Given the description of an element on the screen output the (x, y) to click on. 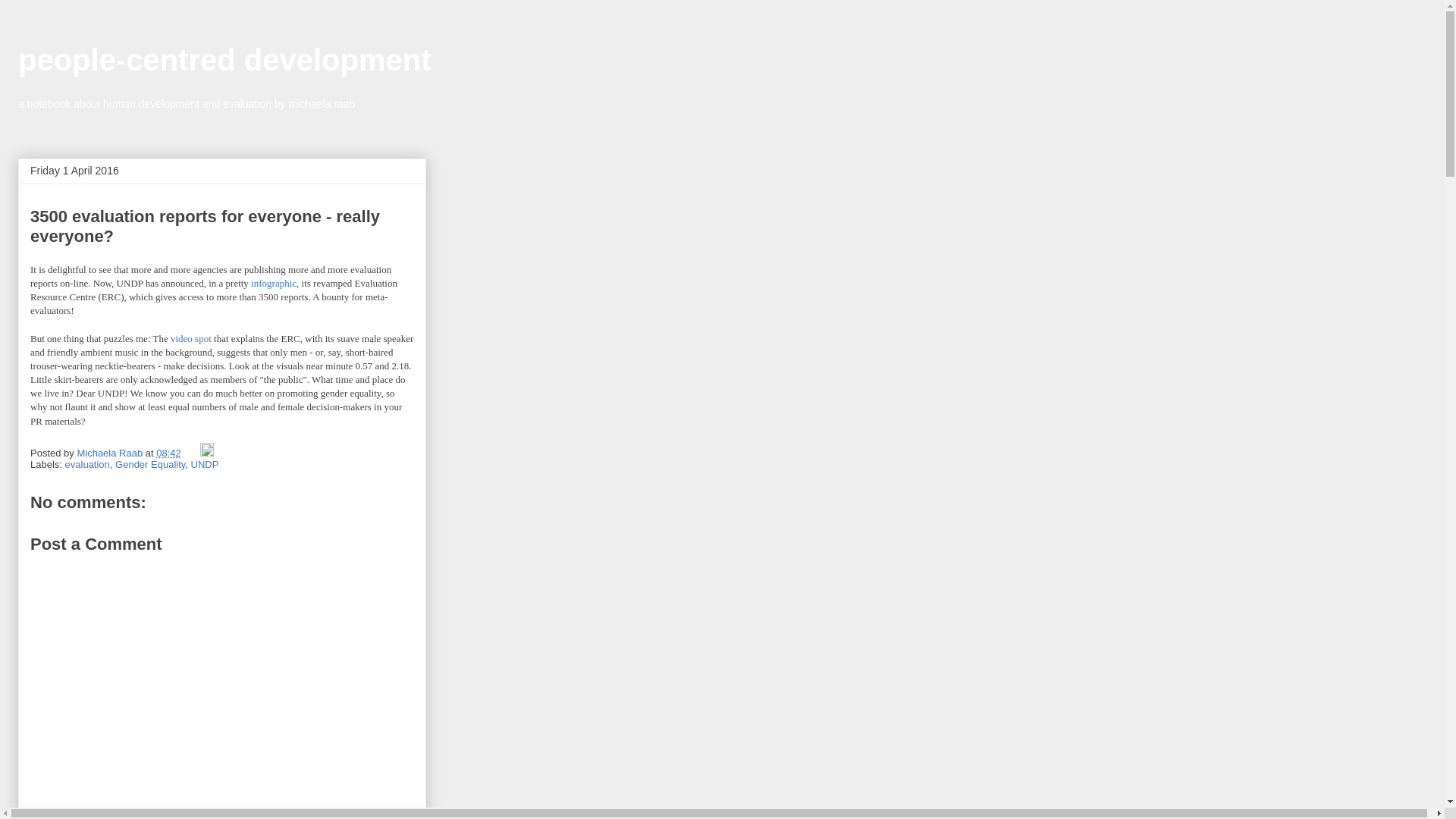
Email Post (191, 452)
video spot (190, 337)
08:42 (167, 452)
author profile (110, 452)
Edit Post (207, 452)
Gender Equality (149, 464)
evaluation (87, 464)
infographic (273, 283)
permanent link (167, 452)
Michaela Raab (110, 452)
UNDP (204, 464)
people-centred development (223, 59)
